Given the description of an element on the screen output the (x, y) to click on. 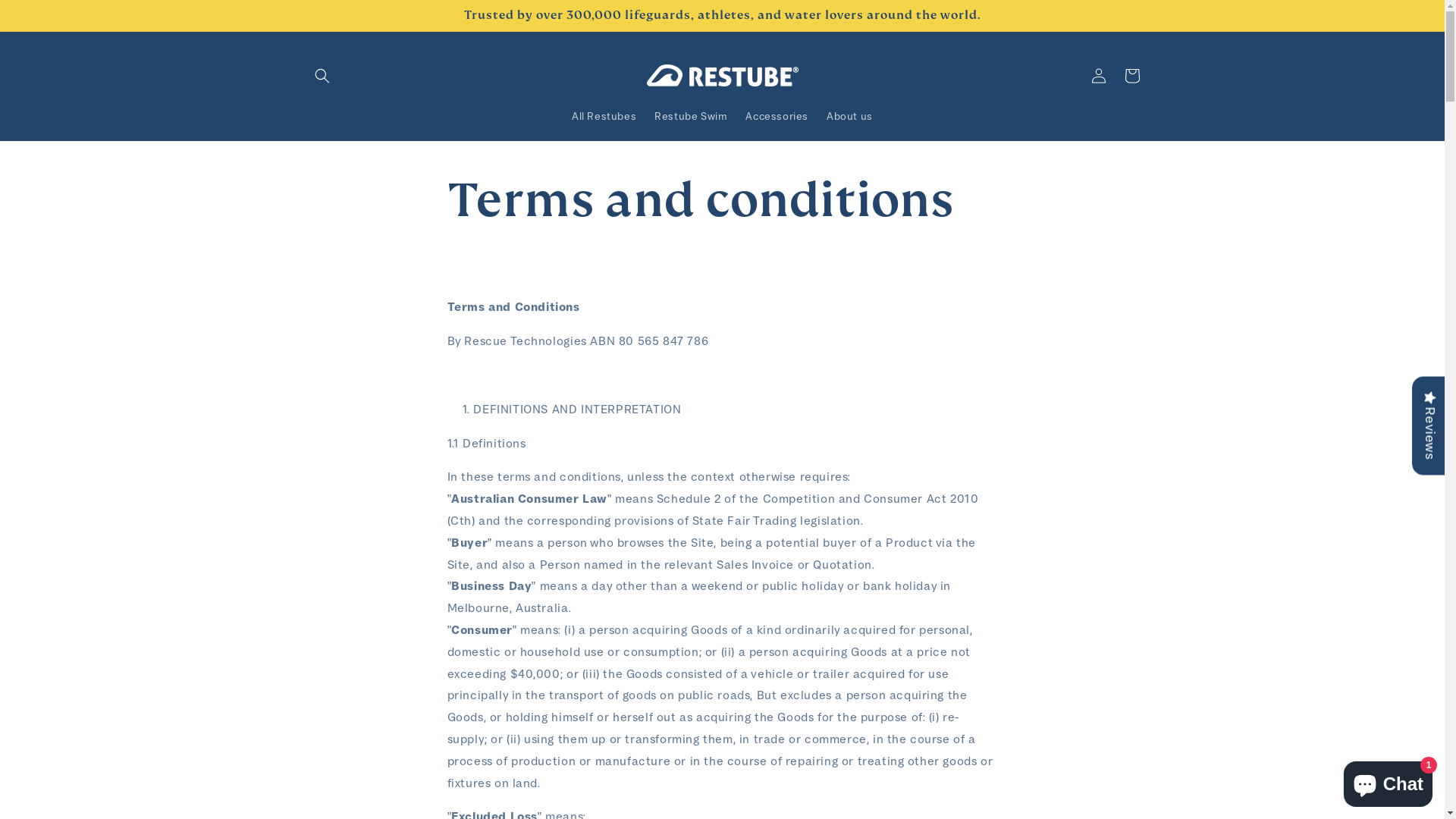
About us Element type: text (849, 115)
Restube Swim Element type: text (690, 115)
Accessories Element type: text (776, 115)
Log in Element type: text (1097, 75)
Shopify online store chat Element type: hover (1388, 780)
Cart Element type: text (1131, 75)
All Restubes Element type: text (603, 115)
